Given the description of an element on the screen output the (x, y) to click on. 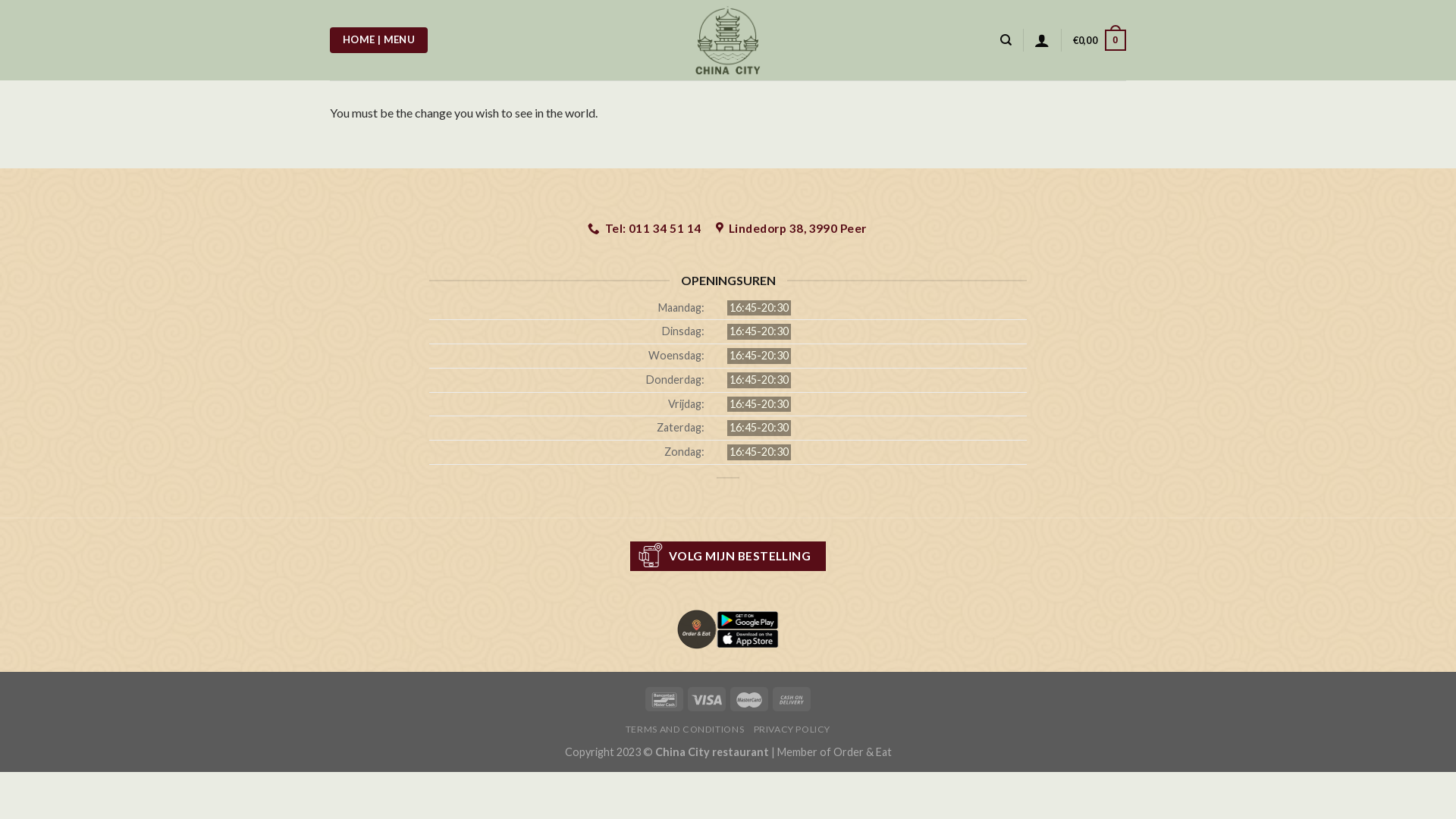
PRIVACY POLICY Element type: text (792, 728)
Tel: 011 34 51 14 Element type: text (644, 228)
HOME | MENU Element type: text (378, 40)
VOLG MIJN BESTELLING Element type: text (727, 556)
Lindedorp 38, 3990 Peer Element type: text (792, 228)
TERMS AND CONDITIONS Element type: text (684, 728)
Order & Eat Element type: text (861, 751)
China City official site - Chinese takeaway in Peer Element type: hover (727, 40)
